Given the description of an element on the screen output the (x, y) to click on. 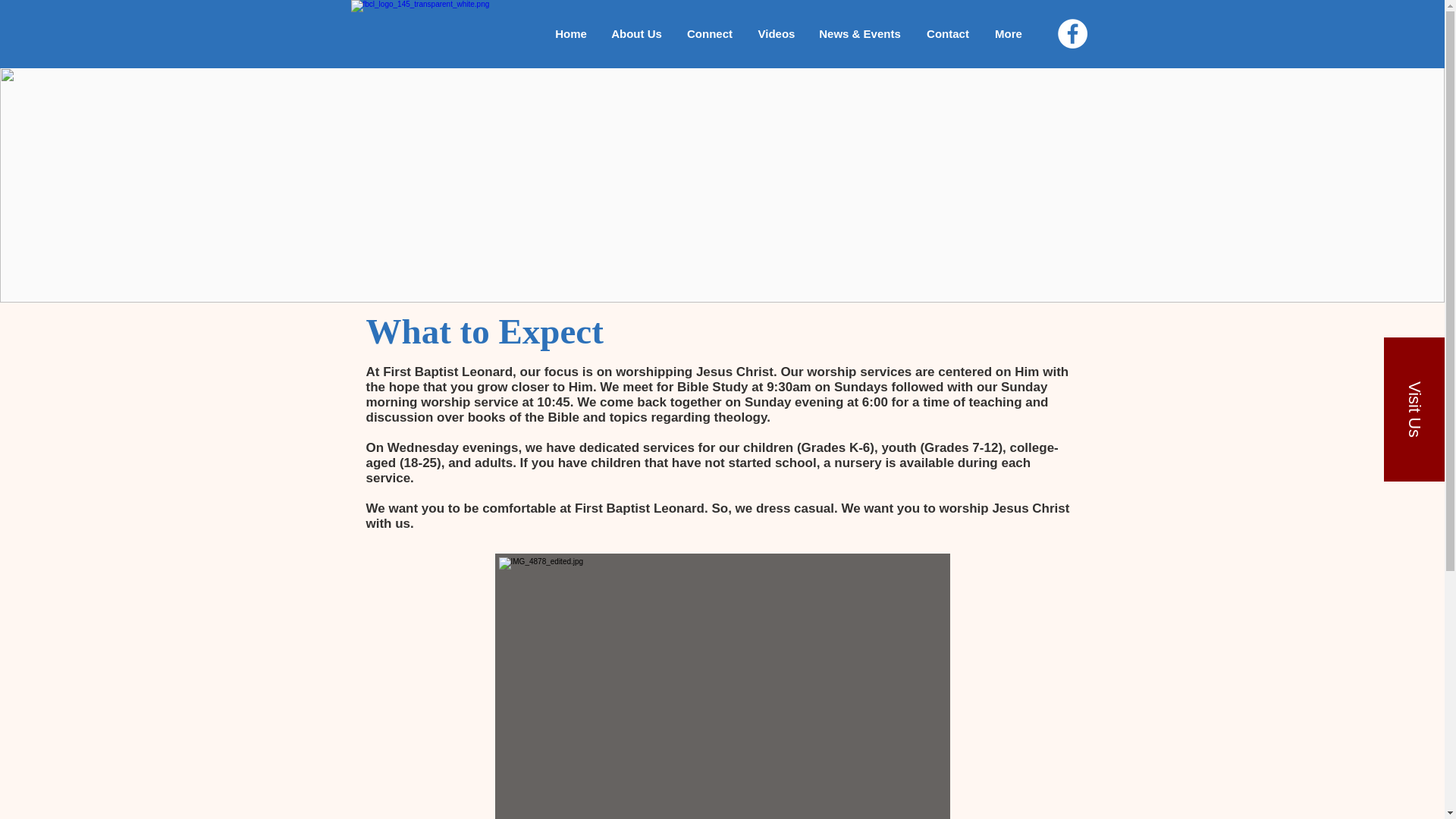
Home (571, 33)
Videos (776, 33)
Contact (948, 33)
